Given the description of an element on the screen output the (x, y) to click on. 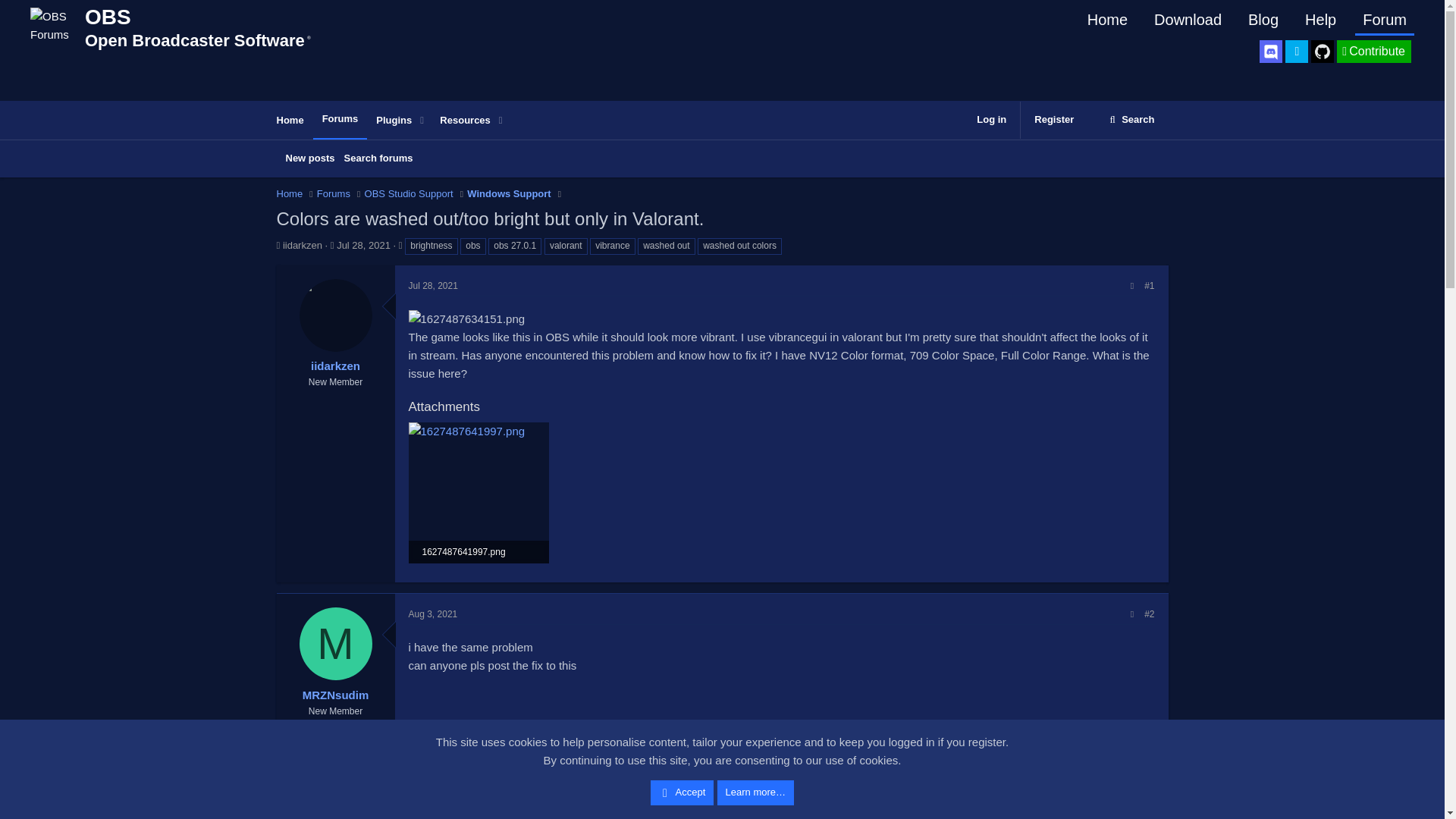
1627487634151.png (465, 319)
Search (1131, 119)
Forums (340, 119)
Jul 28, 2021 at 5:00 PM (432, 285)
Windows Support (508, 193)
Contribute (387, 119)
Register (1373, 51)
New posts (1053, 119)
Search forums (310, 158)
Home (378, 158)
Forum (289, 193)
Resources (1384, 20)
1627487641997.png (461, 120)
Home (478, 551)
